Given the description of an element on the screen output the (x, y) to click on. 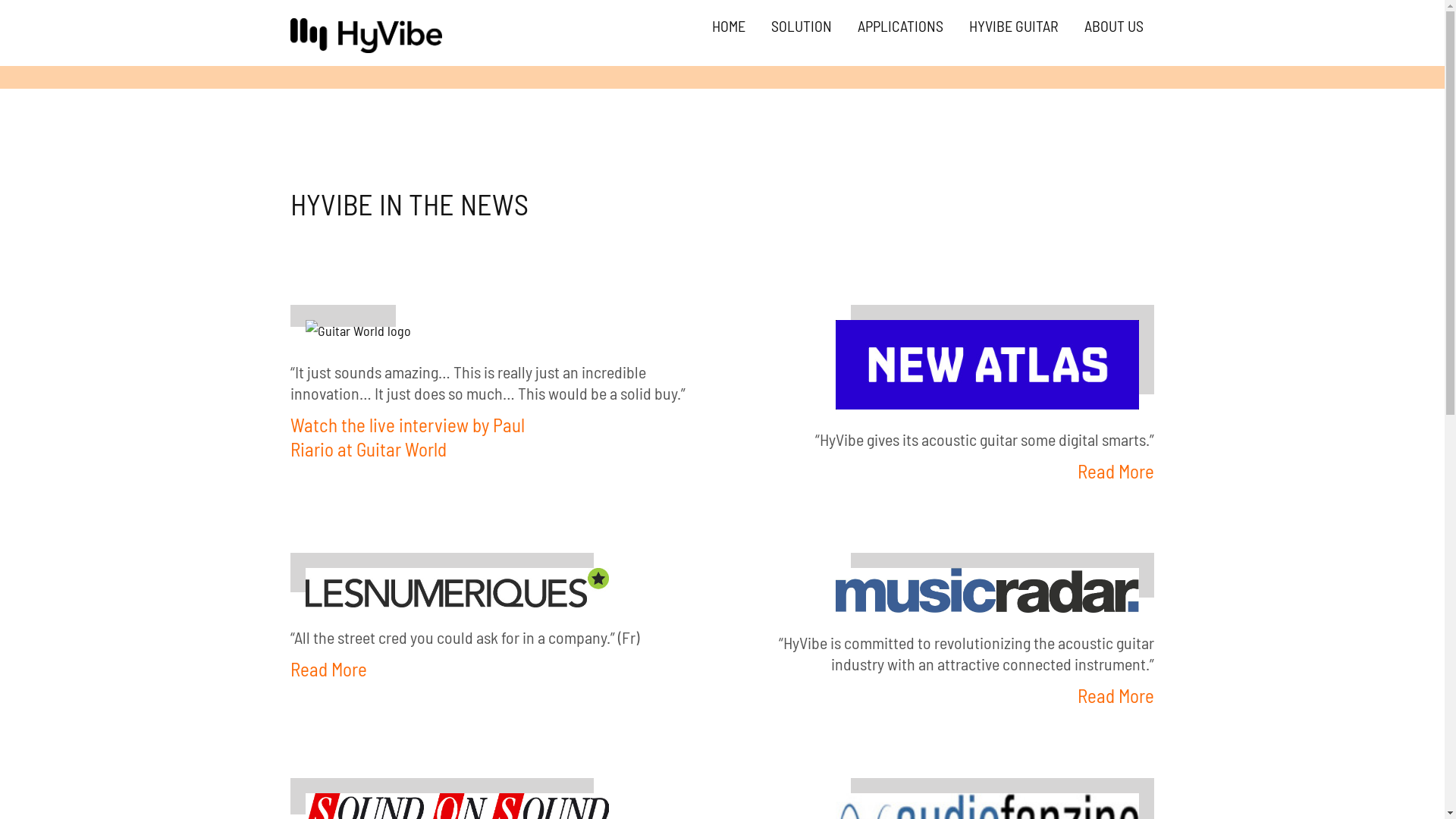
Skip to primary navigation Element type: text (0, 0)
SOLUTION Element type: text (801, 25)
Read More Element type: text (1115, 695)
Watch the live interview by Paul
Riario at Guitar World Element type: text (406, 436)
ABOUT US Element type: text (1113, 25)
Read More Element type: text (1115, 470)
HOME Element type: text (728, 25)
HyVibe Element type: text (310, 60)
APPLICATIONS Element type: text (900, 25)
HYVIBE GUITAR Element type: text (1013, 25)
Read More Element type: text (327, 668)
